Given the description of an element on the screen output the (x, y) to click on. 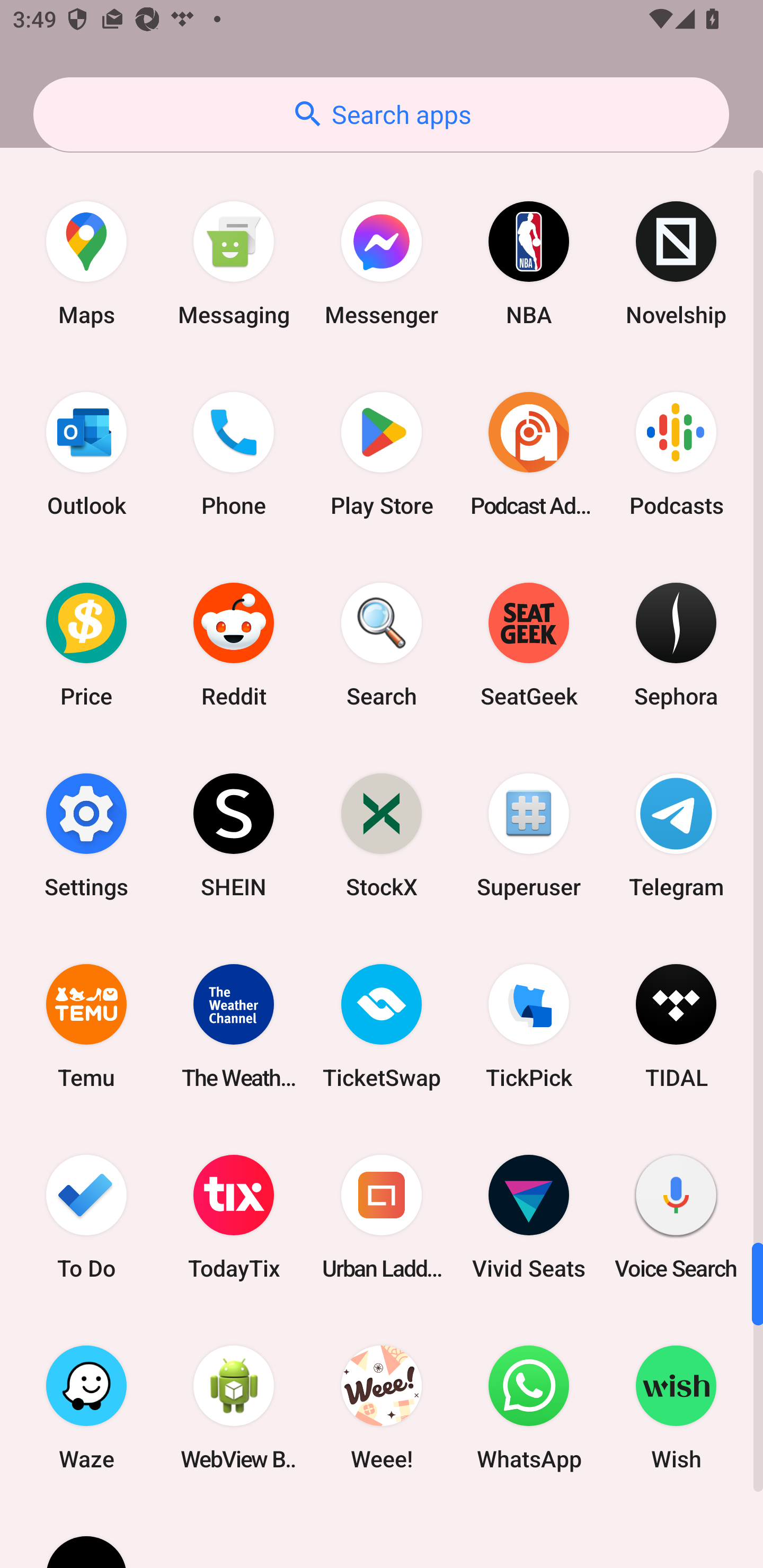
To Do (86, 1216)
